Given the description of an element on the screen output the (x, y) to click on. 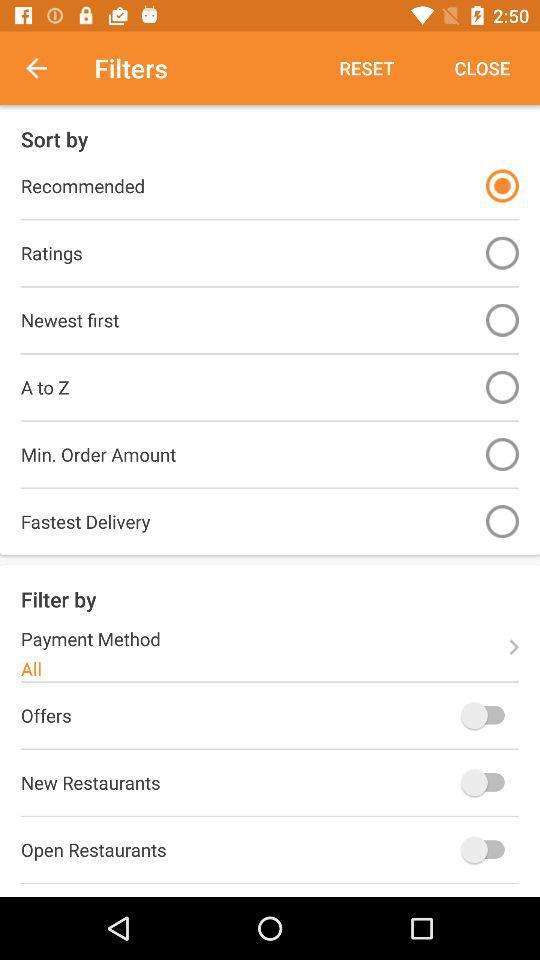
turn on/off open restaurants (487, 849)
